Given the description of an element on the screen output the (x, y) to click on. 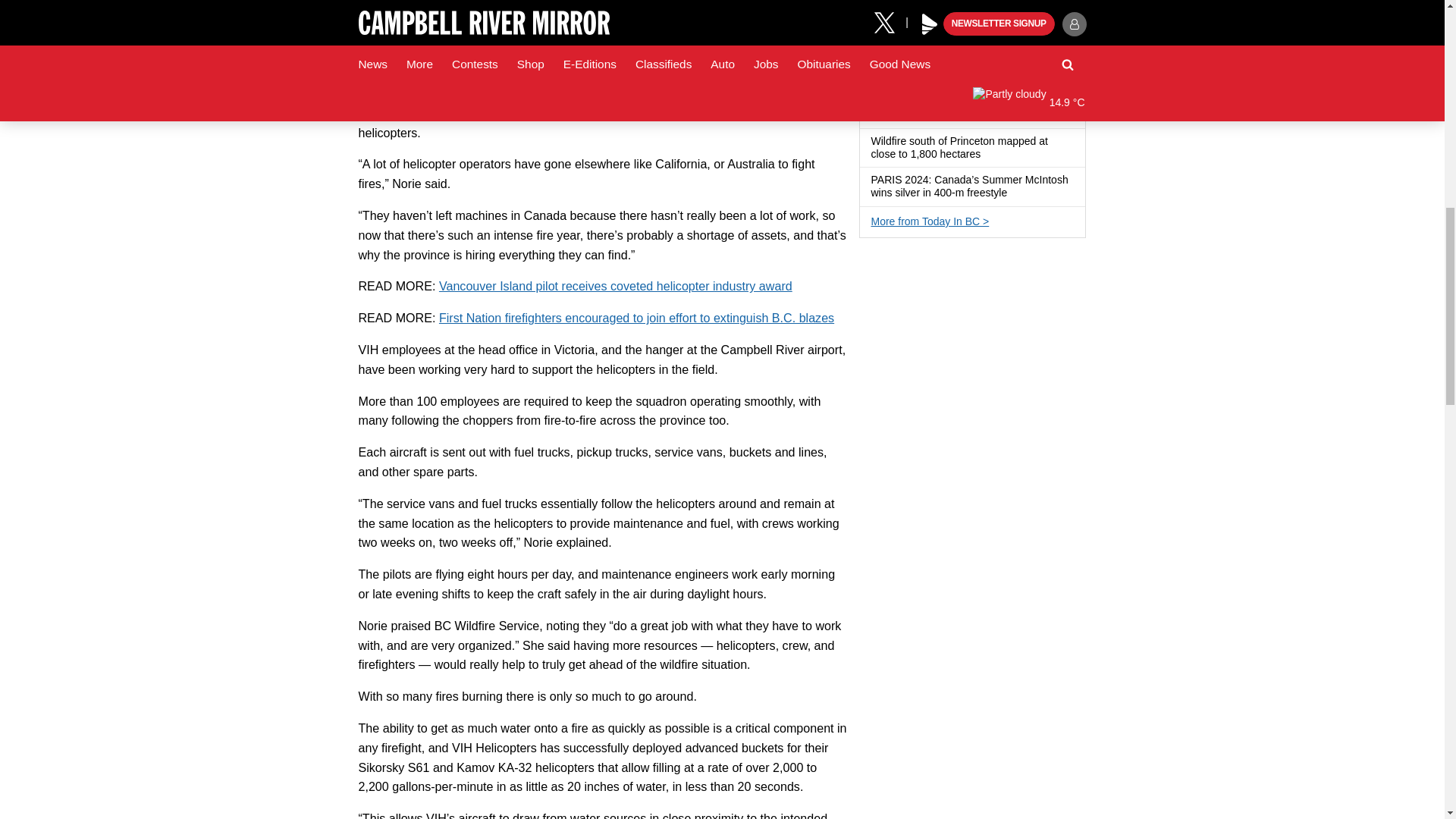
Has a gallery (985, 36)
Has a gallery (1004, 114)
